Given the description of an element on the screen output the (x, y) to click on. 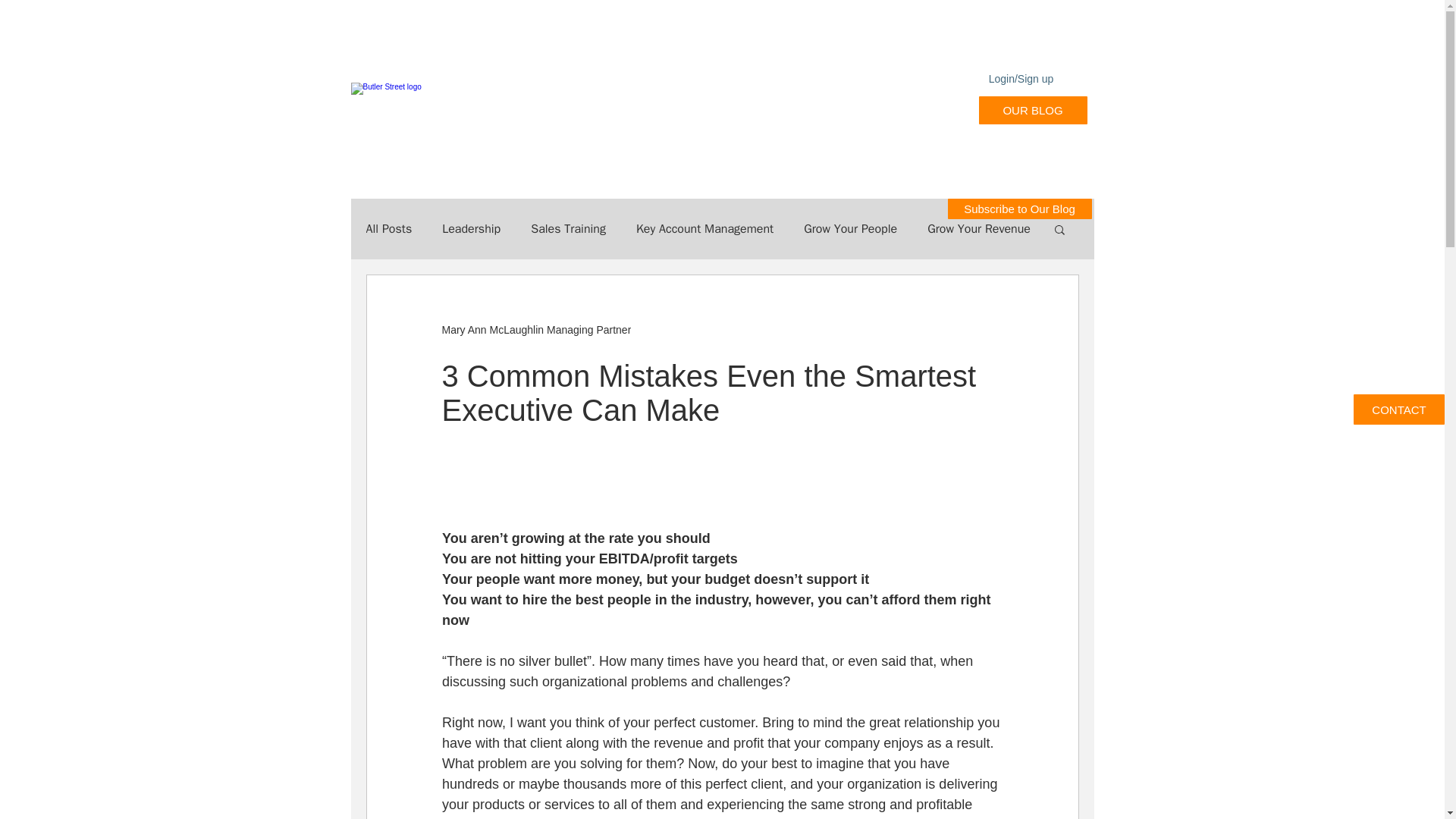
Sales Training (568, 229)
OUR BLOG (1032, 110)
Key Account Management (704, 229)
Grow Your Revenue (978, 229)
Leadership (471, 229)
Mary Ann McLaughlin Managing Partner (535, 329)
Grow Your People (849, 229)
All Posts (388, 229)
Log In (1035, 109)
Butlerstreetlogo.png (463, 113)
